Given the description of an element on the screen output the (x, y) to click on. 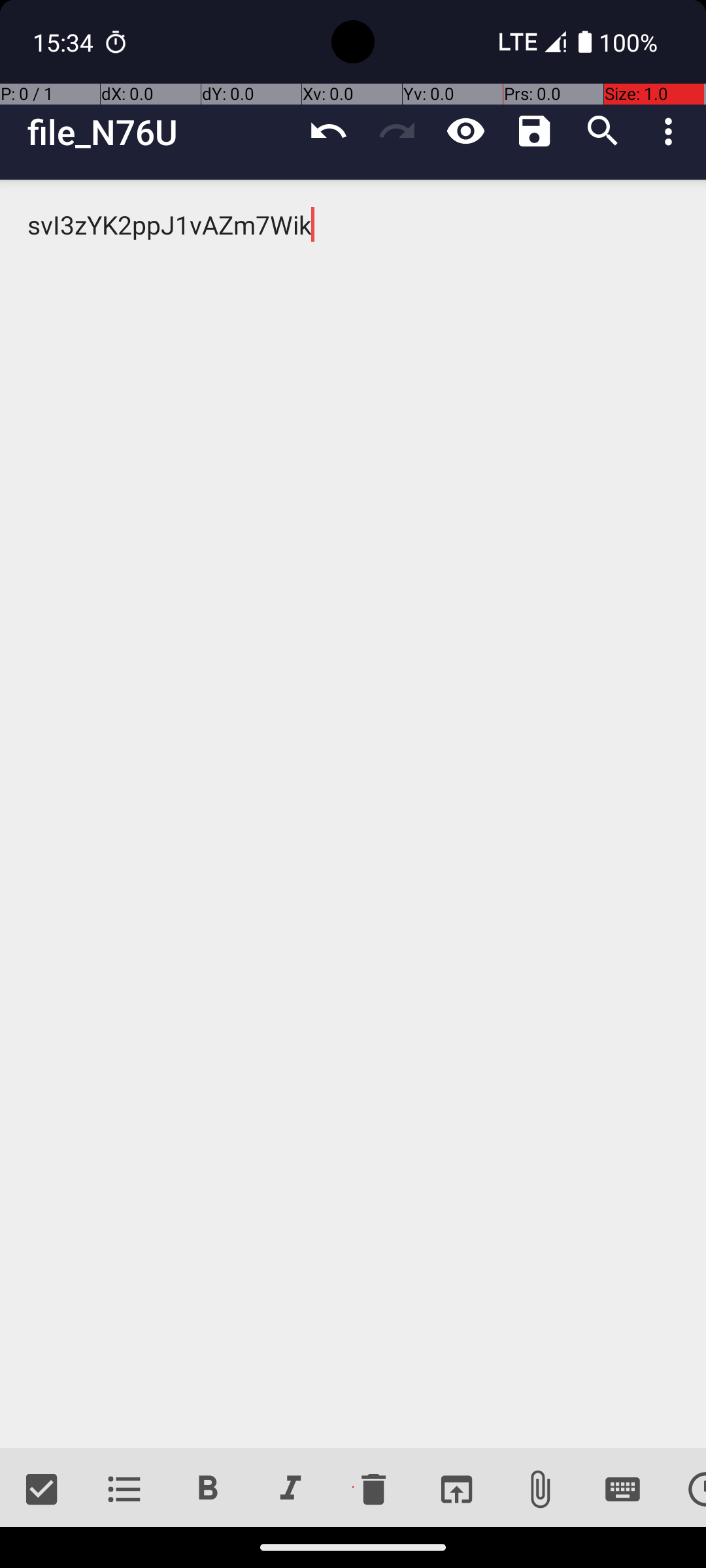
file_N76U Element type: android.widget.TextView (160, 131)
svI3zYK2ppJ1vAZm7Wik Element type: android.widget.EditText (353, 813)
